Given the description of an element on the screen output the (x, y) to click on. 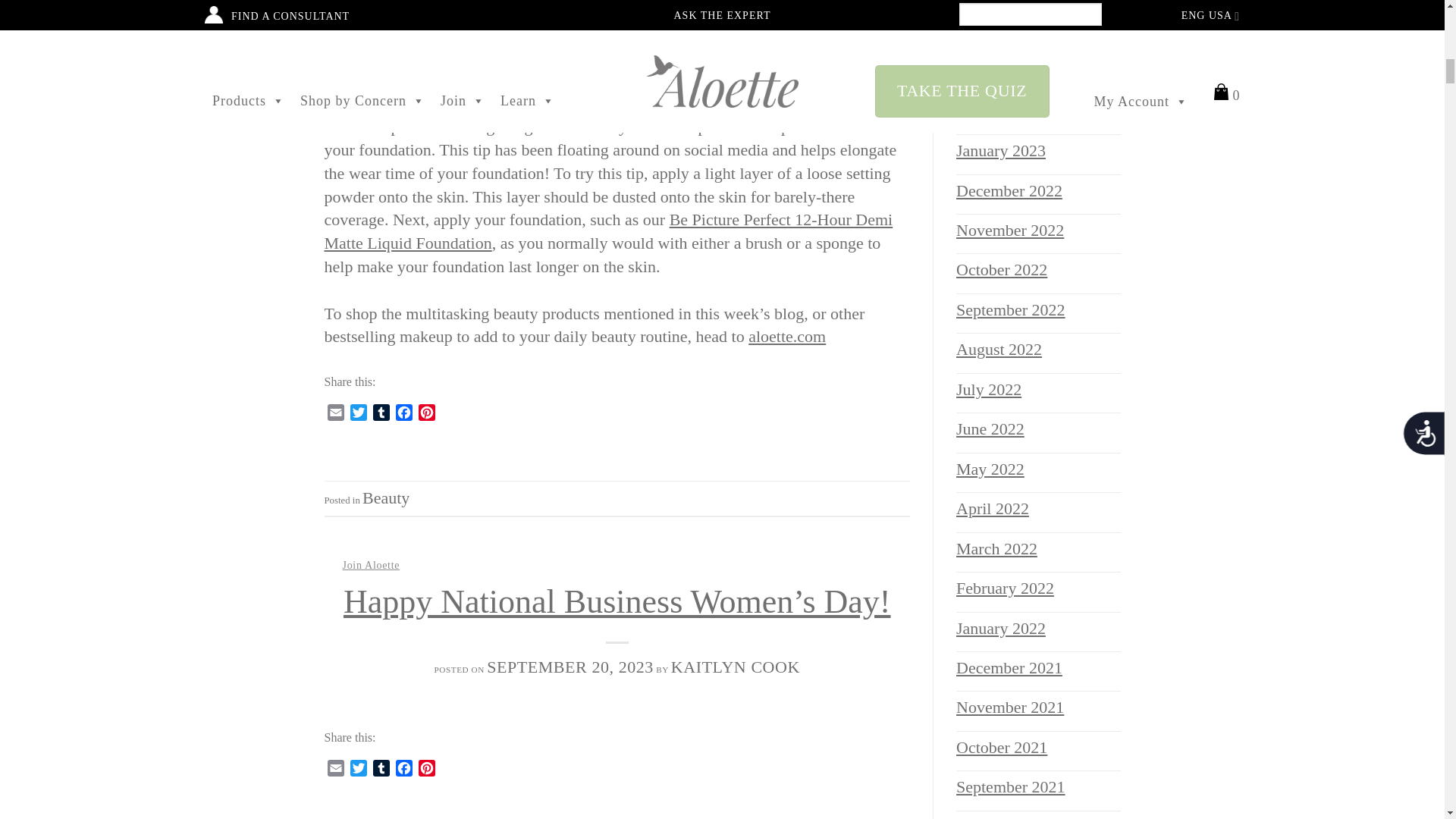
Email (335, 415)
Pinterest (426, 415)
Email (335, 771)
Twitter (358, 415)
Facebook (403, 415)
Tumblr (381, 415)
